Given the description of an element on the screen output the (x, y) to click on. 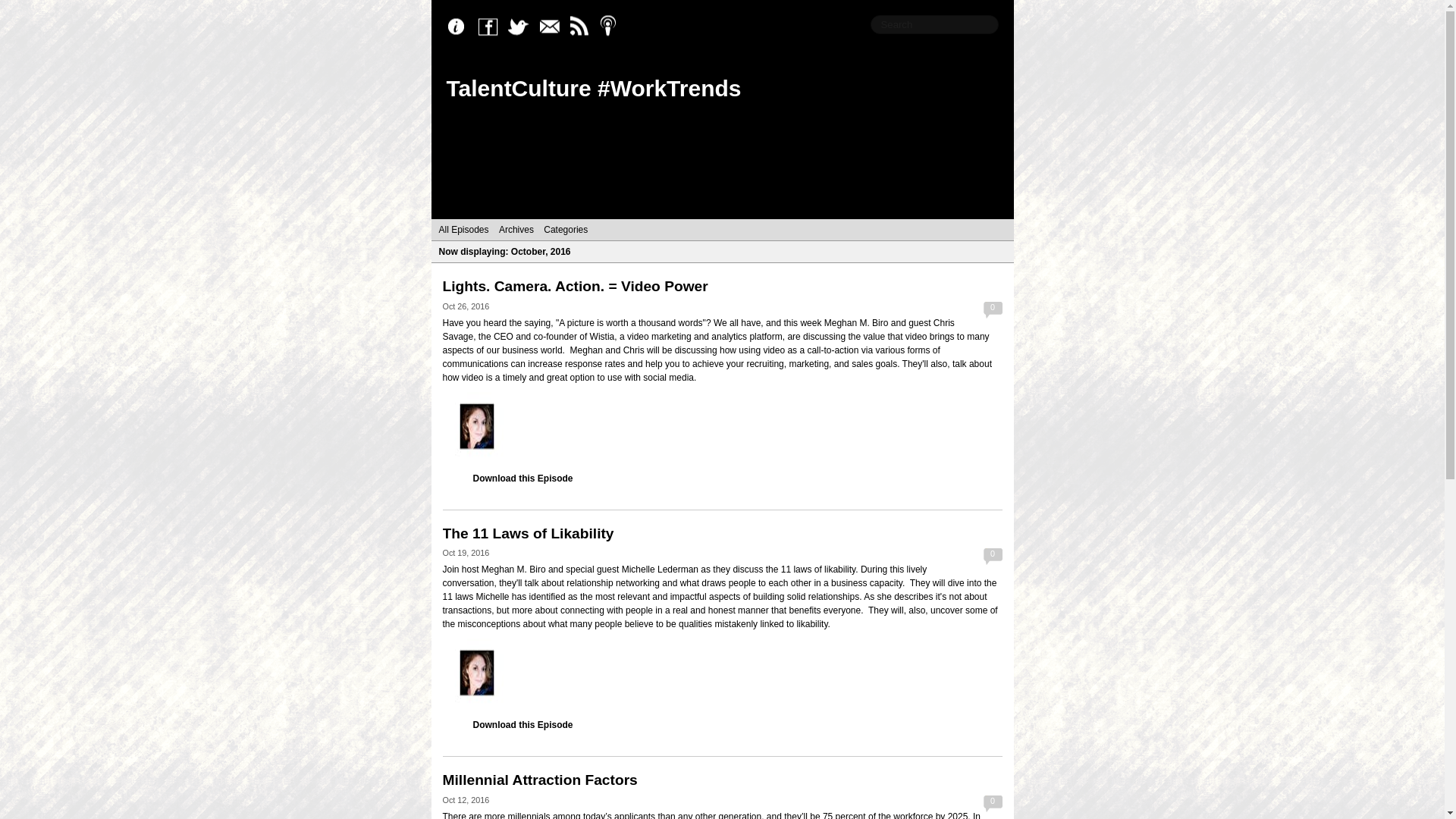
Twitter (521, 26)
Email (552, 26)
Libsyn Player (722, 426)
Facebook (491, 26)
RSS Feed (581, 26)
Subscribe in Apple Podcasts (611, 26)
Libsyn Player (722, 672)
